Given the description of an element on the screen output the (x, y) to click on. 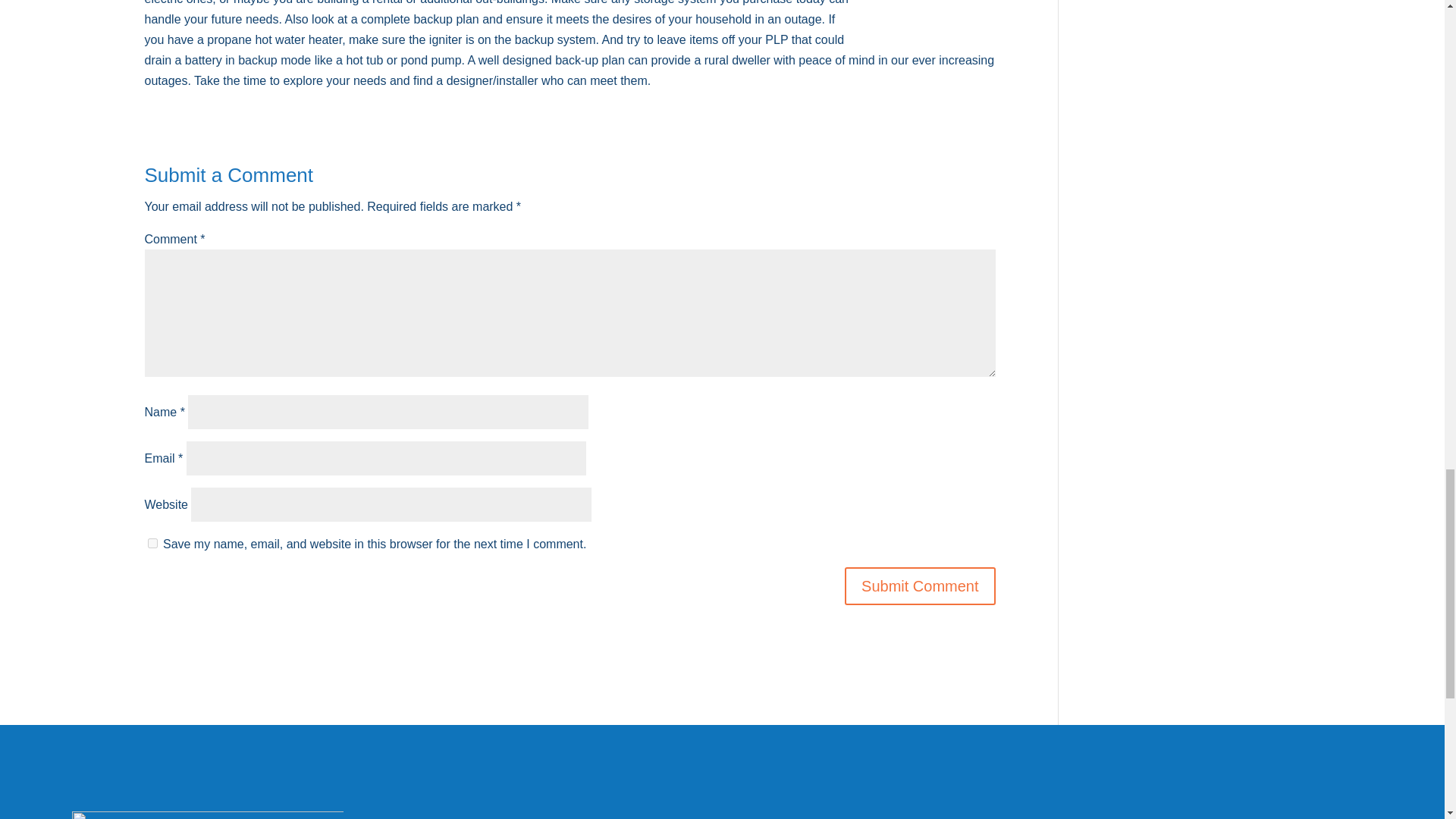
solar-energy-company-logo (207, 815)
Submit Comment (919, 586)
Submit Comment (919, 586)
yes (152, 542)
